Given the description of an element on the screen output the (x, y) to click on. 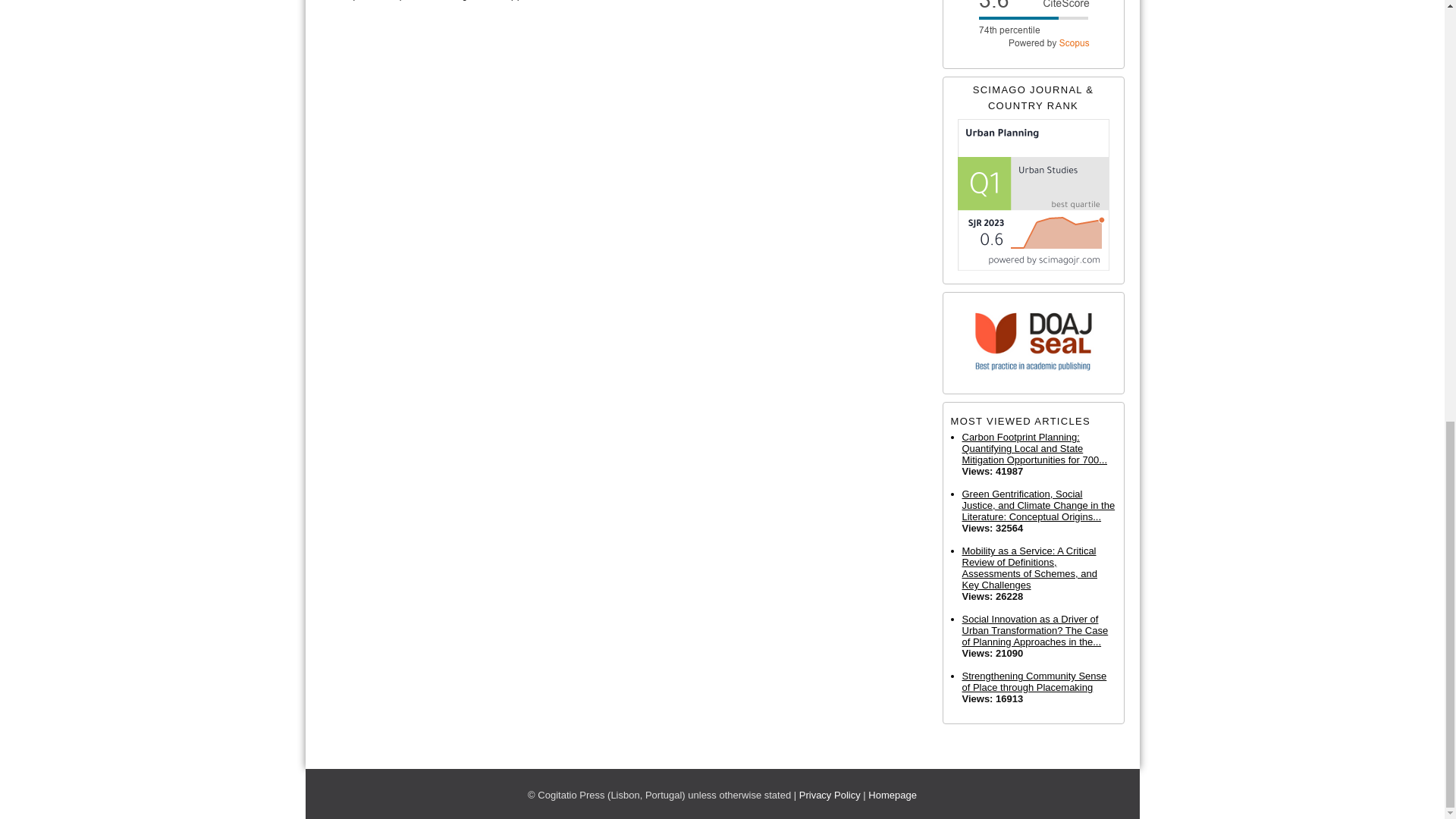
DOAJ Seal (1033, 342)
Privacy Policy (829, 795)
Homepage (892, 795)
Strengthening Community Sense of Place through Placemaking (1037, 681)
Strengthening Community Sense of Place through Placemaking (1037, 681)
